Given the description of an element on the screen output the (x, y) to click on. 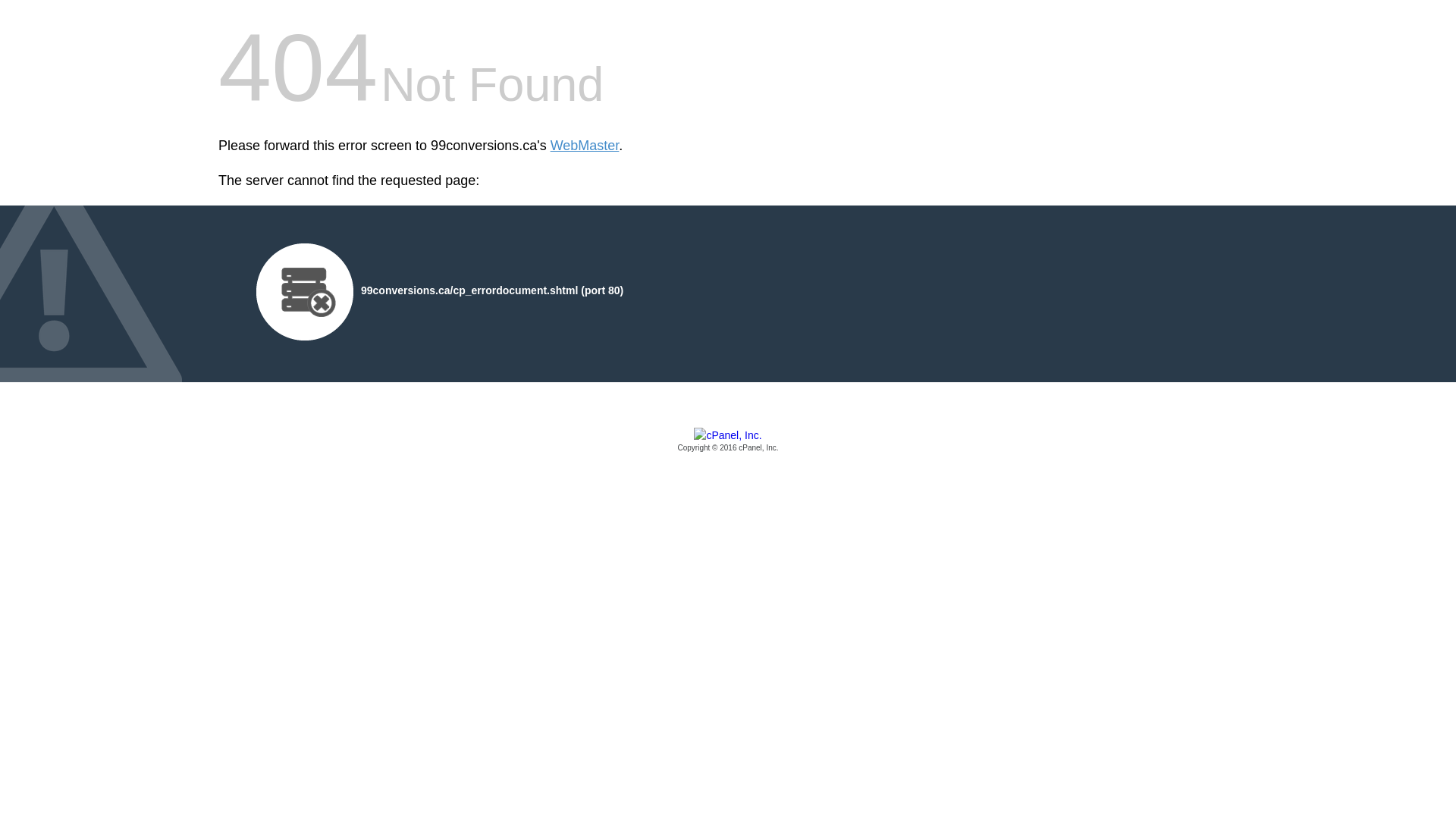
WebMaster Element type: text (584, 145)
